Given the description of an element on the screen output the (x, y) to click on. 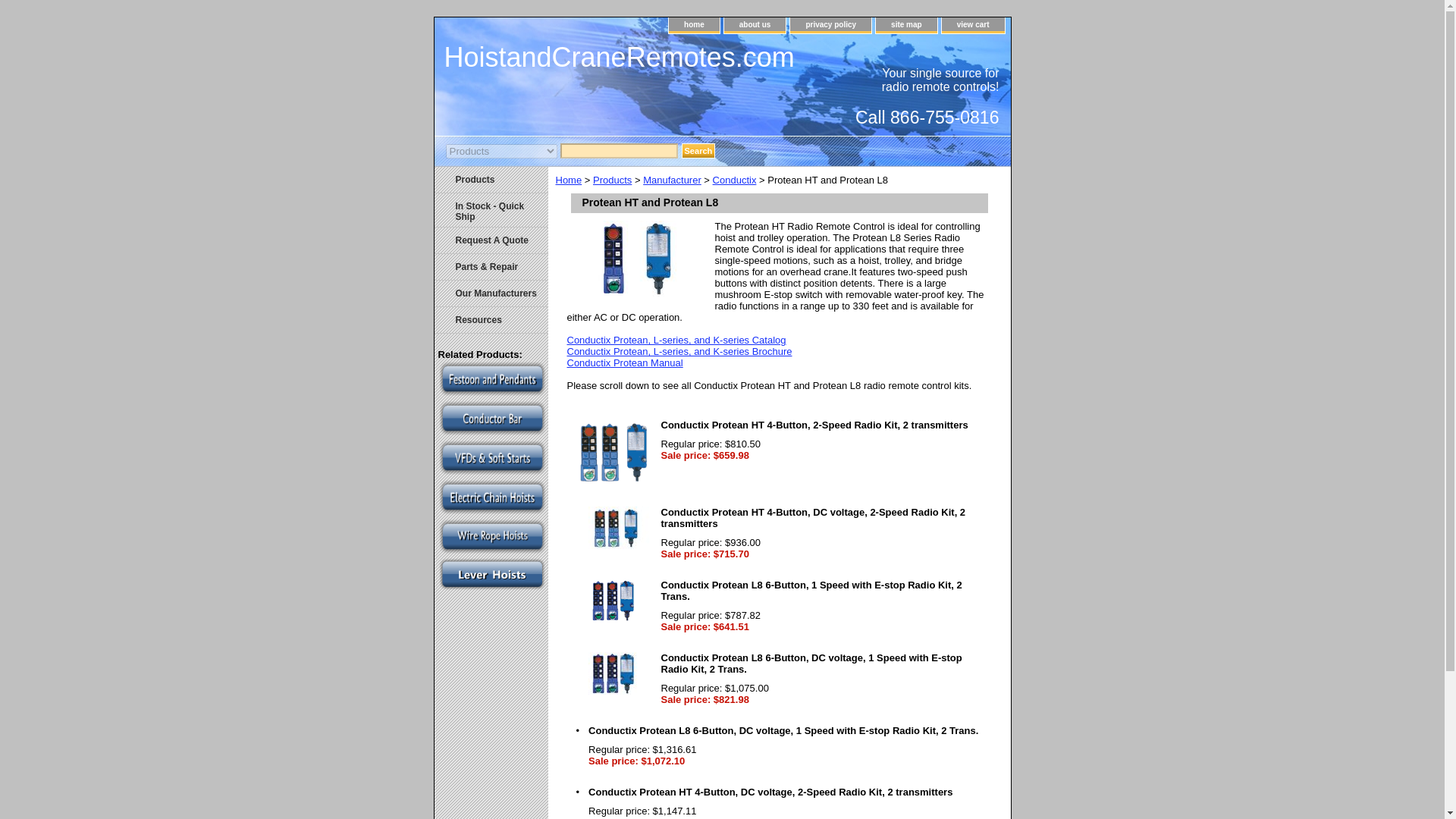
view cart (973, 25)
Manufacturer (672, 179)
Search (697, 150)
Protean HT and Protean L8 (635, 258)
In Stock - Quick Ship (490, 210)
In Stock - Quick Ship (490, 210)
HoistandCraneRemotes.com (622, 58)
site map (906, 25)
